Given the description of an element on the screen output the (x, y) to click on. 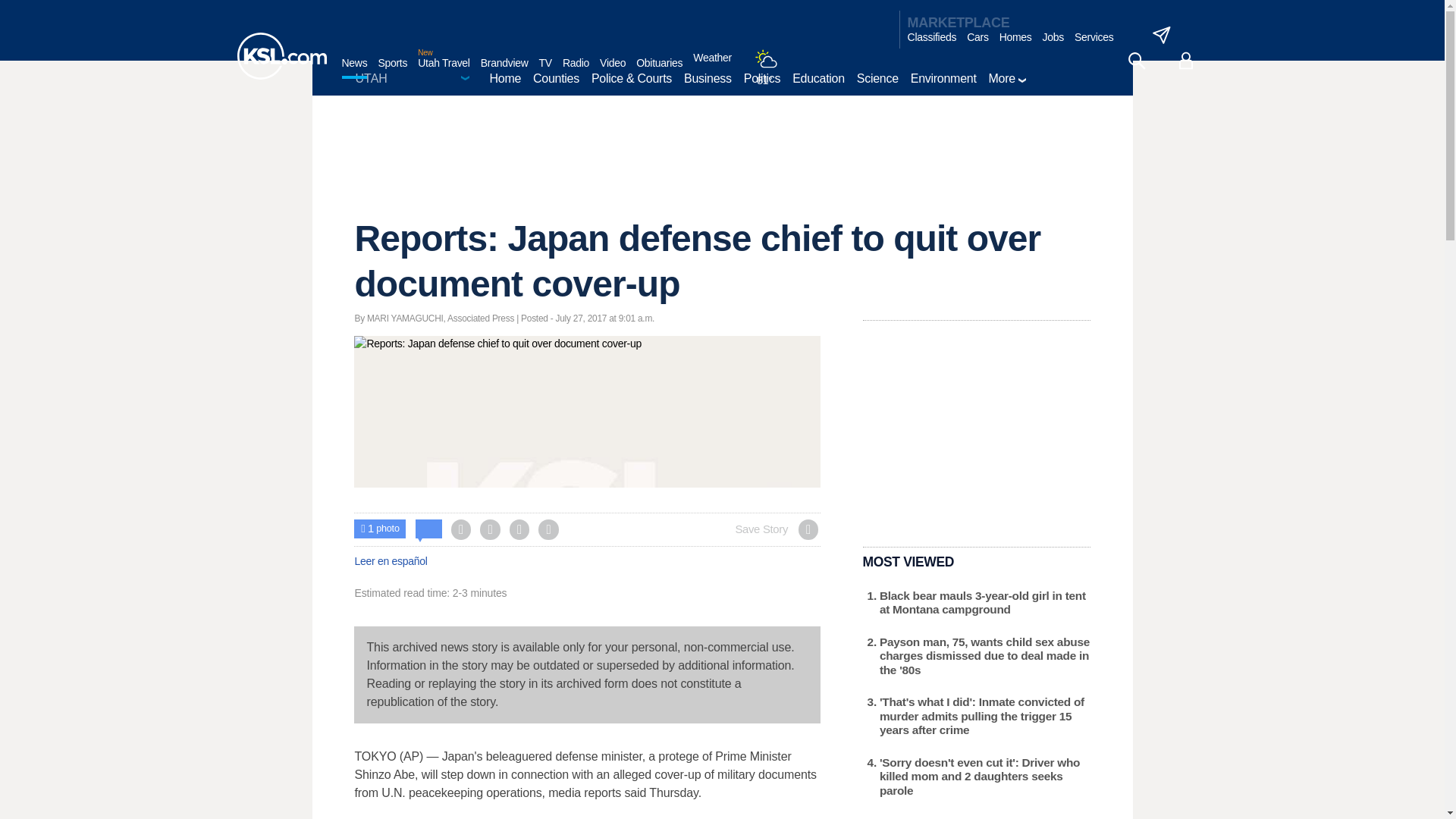
KSL homepage (280, 55)
search (1135, 60)
account - logged out (1185, 60)
